Given the description of an element on the screen output the (x, y) to click on. 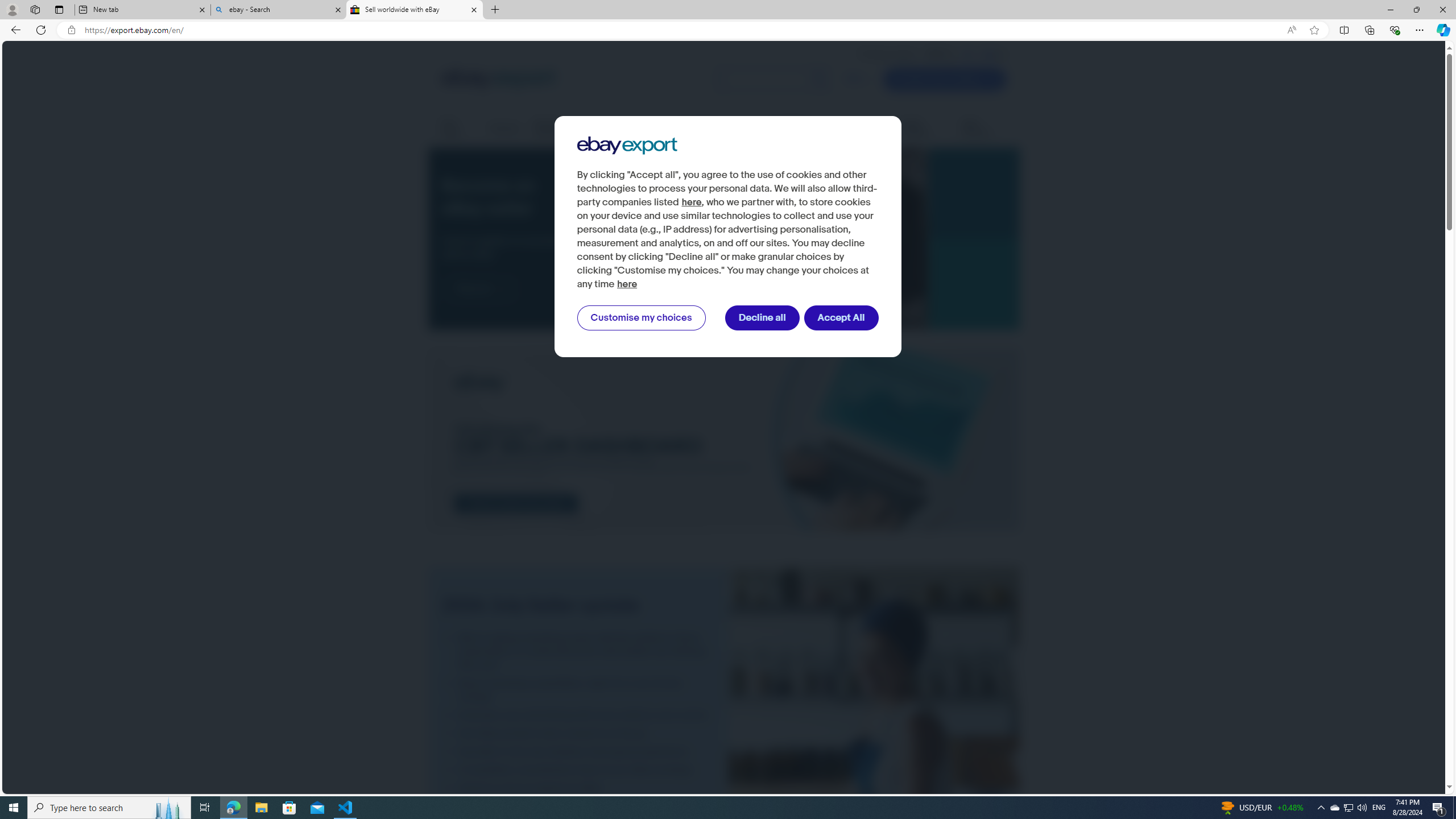
A simplified, consolidated view of your eBay earnings (578, 769)
Get eBay product sales research on the go (578, 733)
Decline all (762, 317)
Class: search-input__btn (819, 79)
Ebay Export (626, 145)
CBT Web Banner.jpeg (723, 441)
